Given the description of an element on the screen output the (x, y) to click on. 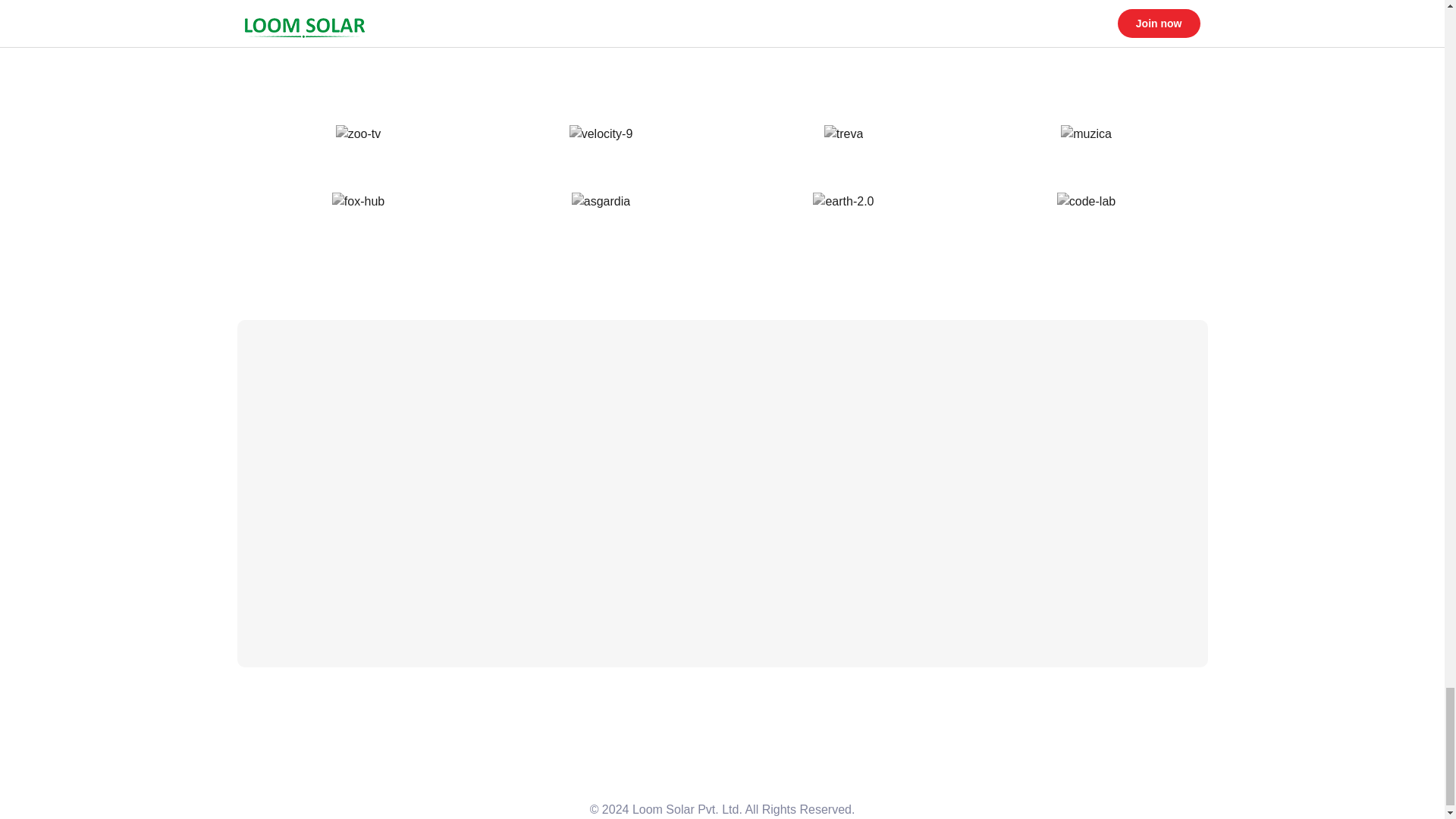
velocity-9 (601, 134)
zoo-tv (358, 134)
muzica (1086, 134)
earth-2.0 (842, 201)
treva (843, 134)
fox-hub (357, 201)
asgardia (601, 201)
code-lab (1086, 201)
